Given the description of an element on the screen output the (x, y) to click on. 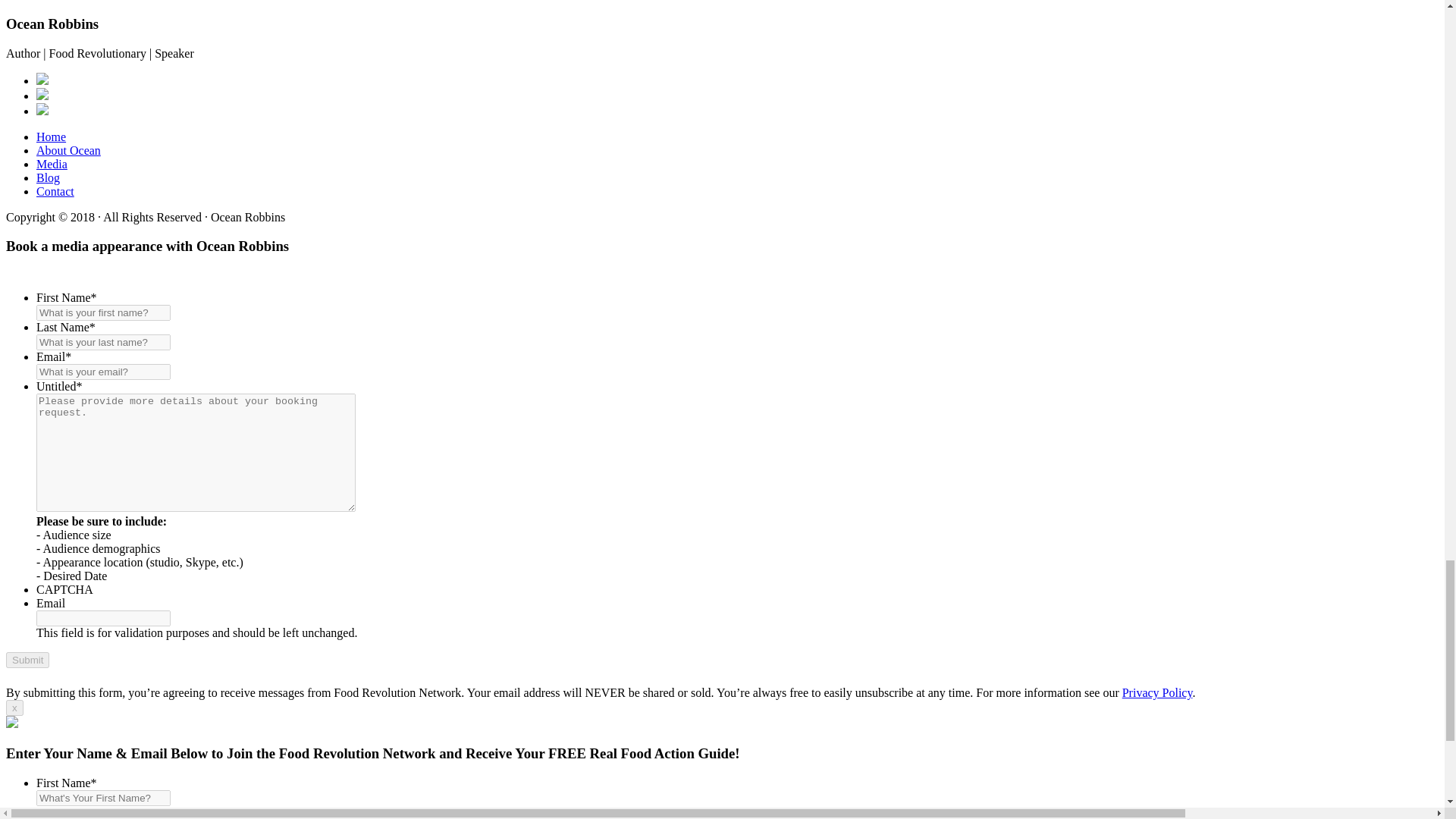
Contact (55, 191)
Privacy Policy (1157, 692)
About Ocean (68, 150)
Submit (27, 659)
Submit (27, 659)
x (14, 707)
Home (50, 136)
Media (51, 164)
Blog (47, 177)
